Given the description of an element on the screen output the (x, y) to click on. 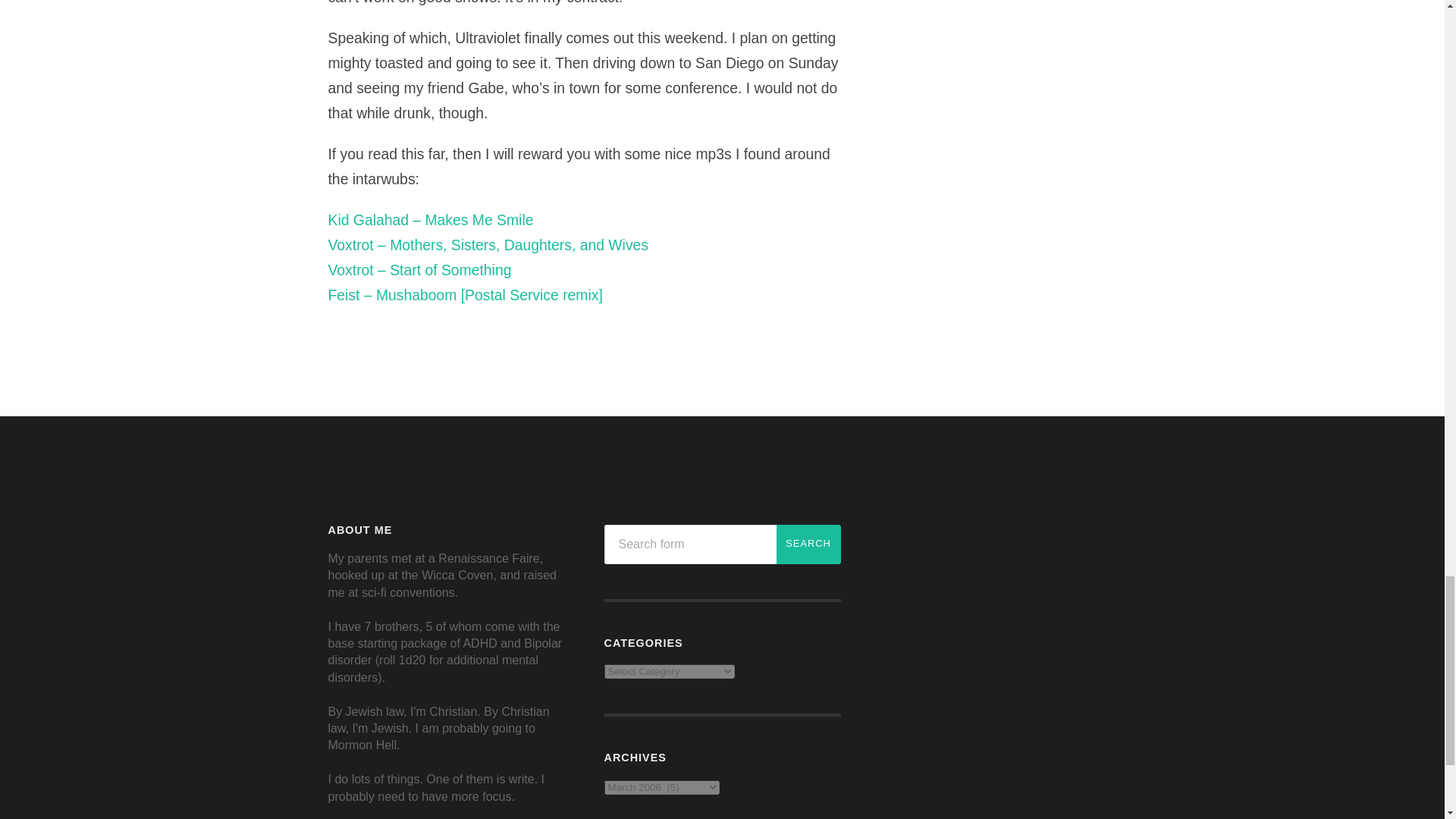
Search (808, 544)
